Given the description of an element on the screen output the (x, y) to click on. 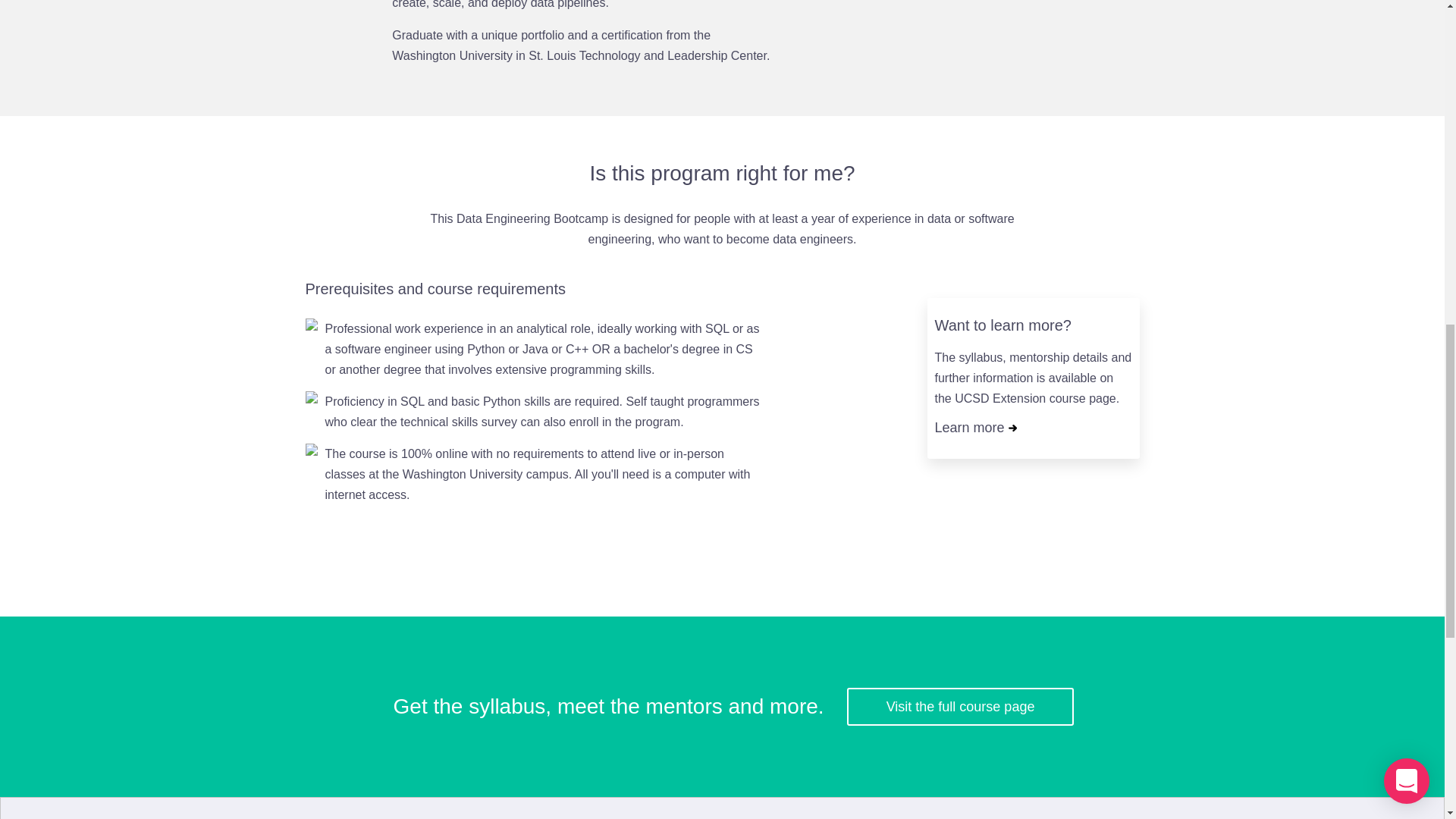
Visit the full course page (960, 706)
Visit the full course page (960, 707)
Learn more (975, 427)
